Given the description of an element on the screen output the (x, y) to click on. 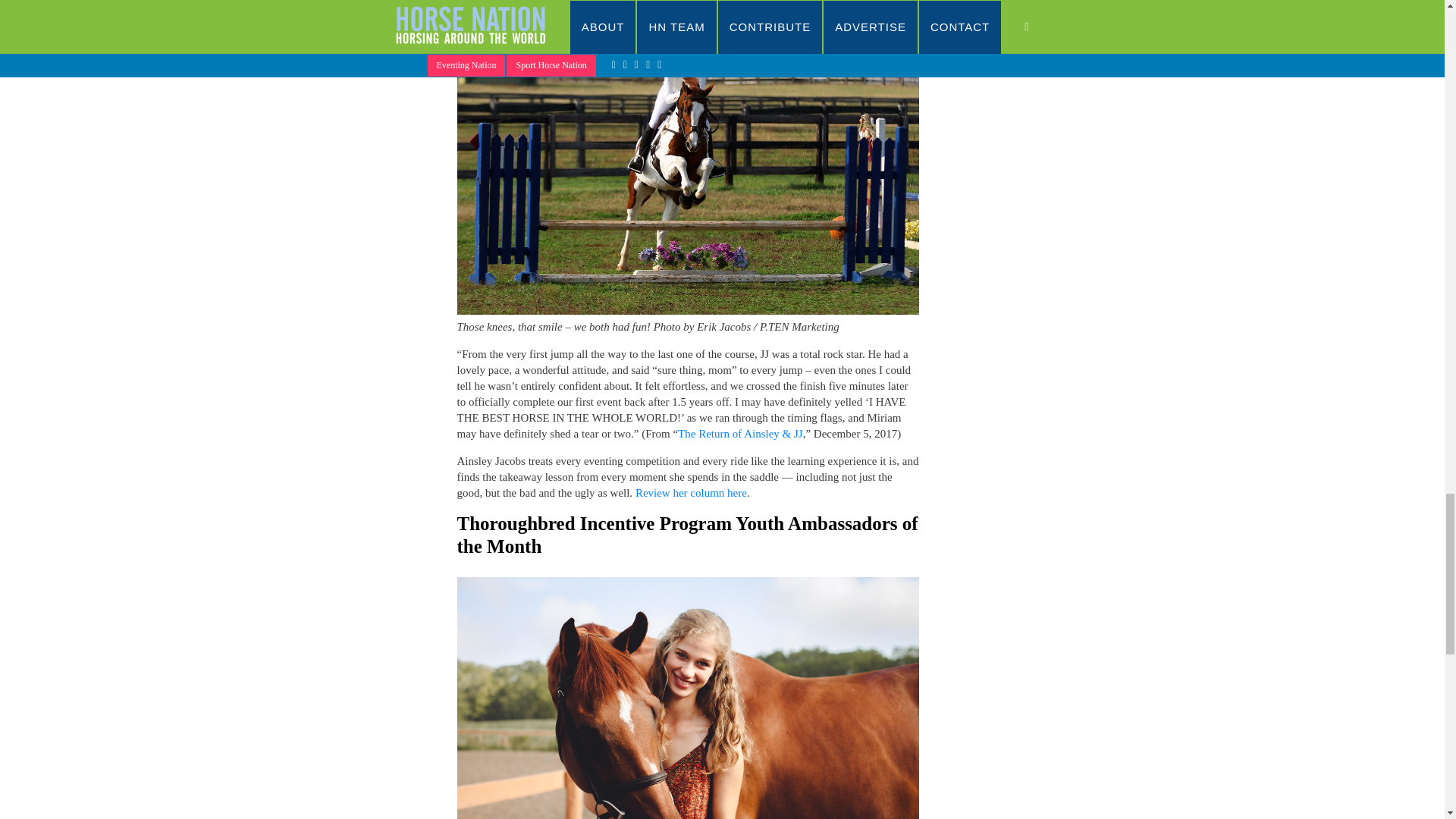
Review her column here (690, 492)
